Given the description of an element on the screen output the (x, y) to click on. 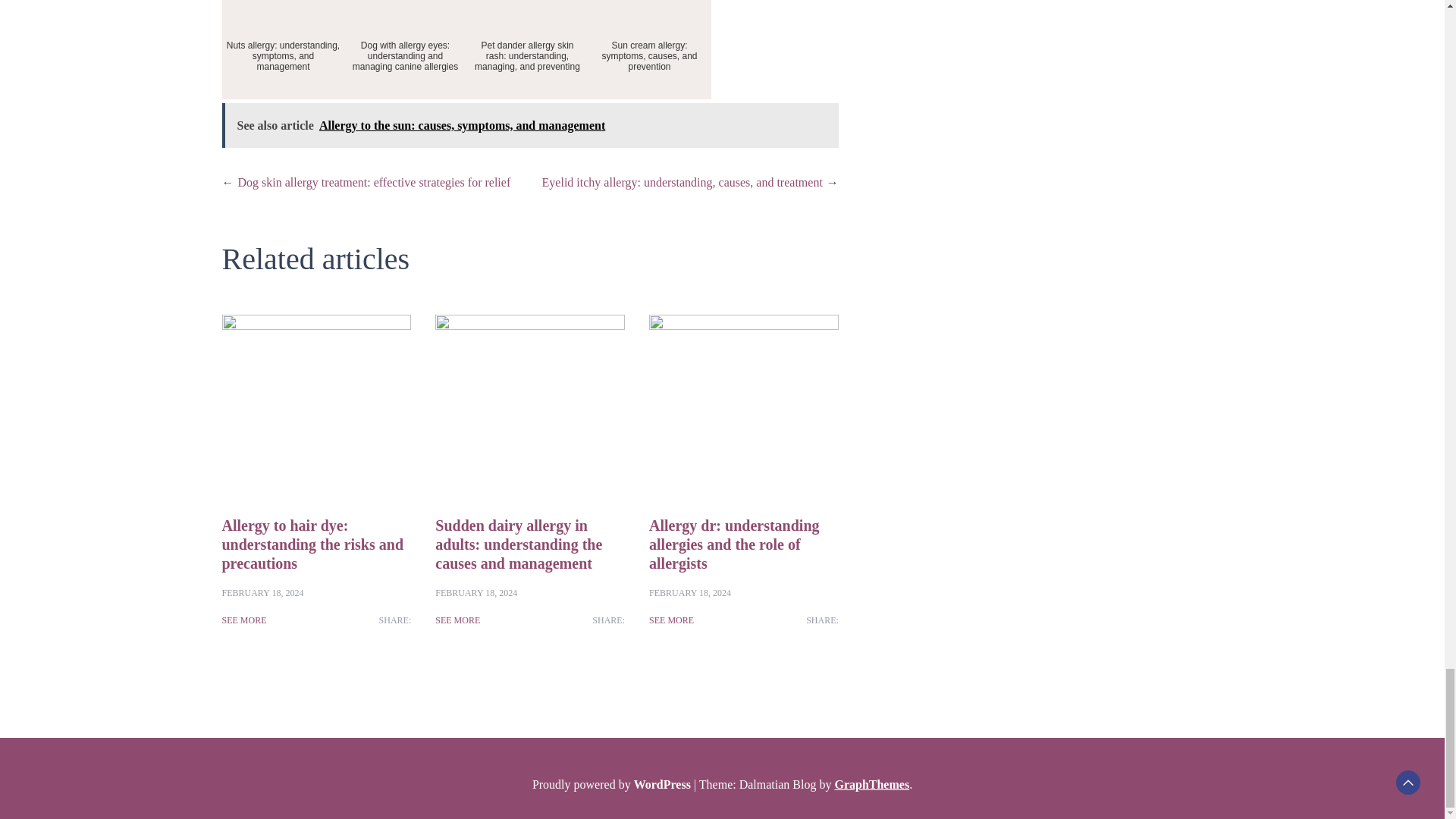
Allergy to hair dye: understanding the risks and precautions (312, 543)
Nuts allergy: understanding, symptoms, and management (282, 49)
Eyelid itchy allergy: understanding, causes, and treatment (681, 182)
Sun cream allergy: symptoms, causes, and prevention (649, 49)
Dog skin allergy treatment: effective strategies for relief (374, 182)
